Given the description of an element on the screen output the (x, y) to click on. 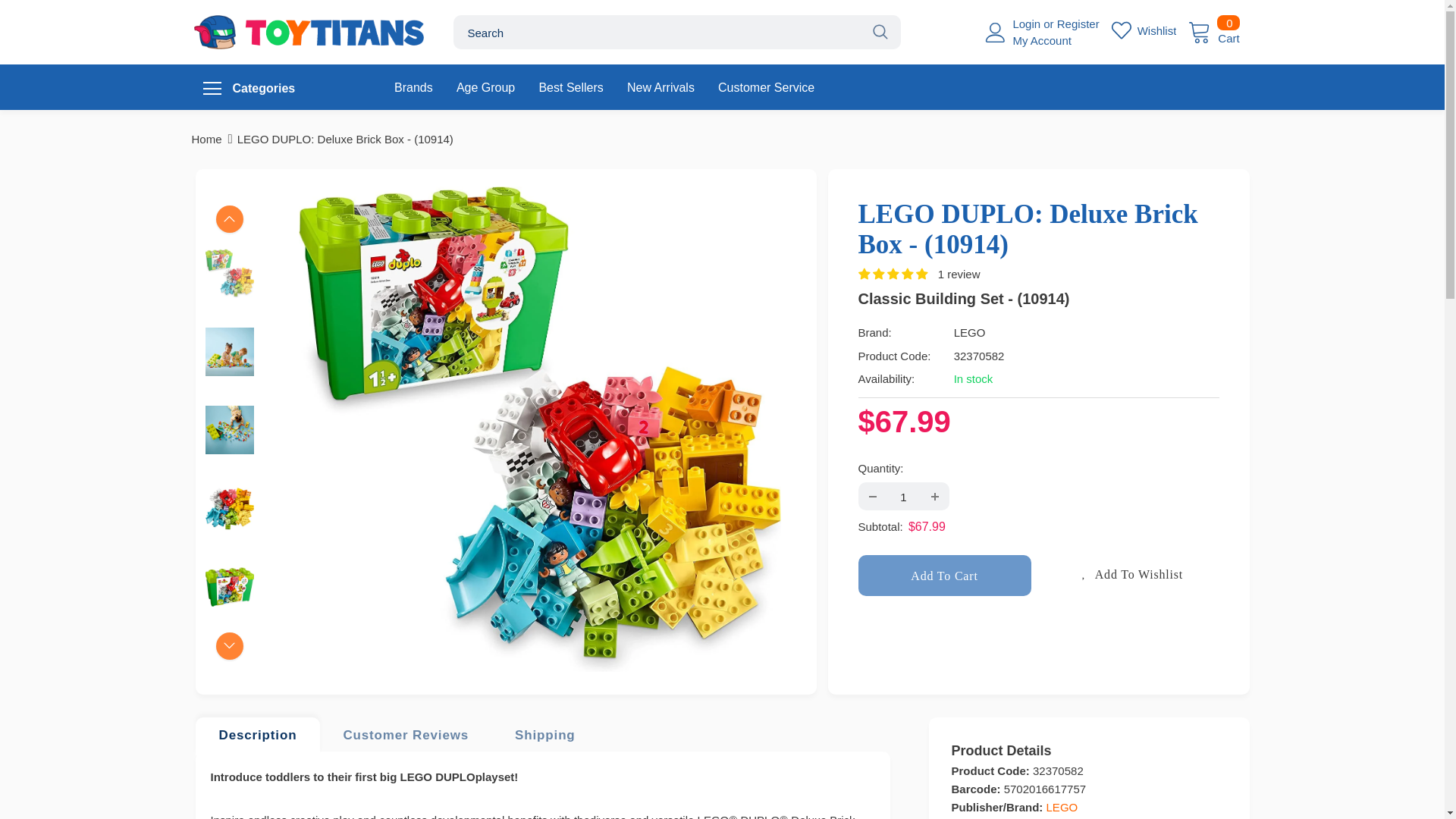
1 (902, 496)
Add to Cart (944, 575)
Login (1027, 23)
My Account (1041, 40)
Logo (308, 32)
Wishlist (1143, 30)
Register (1078, 23)
